Given the description of an element on the screen output the (x, y) to click on. 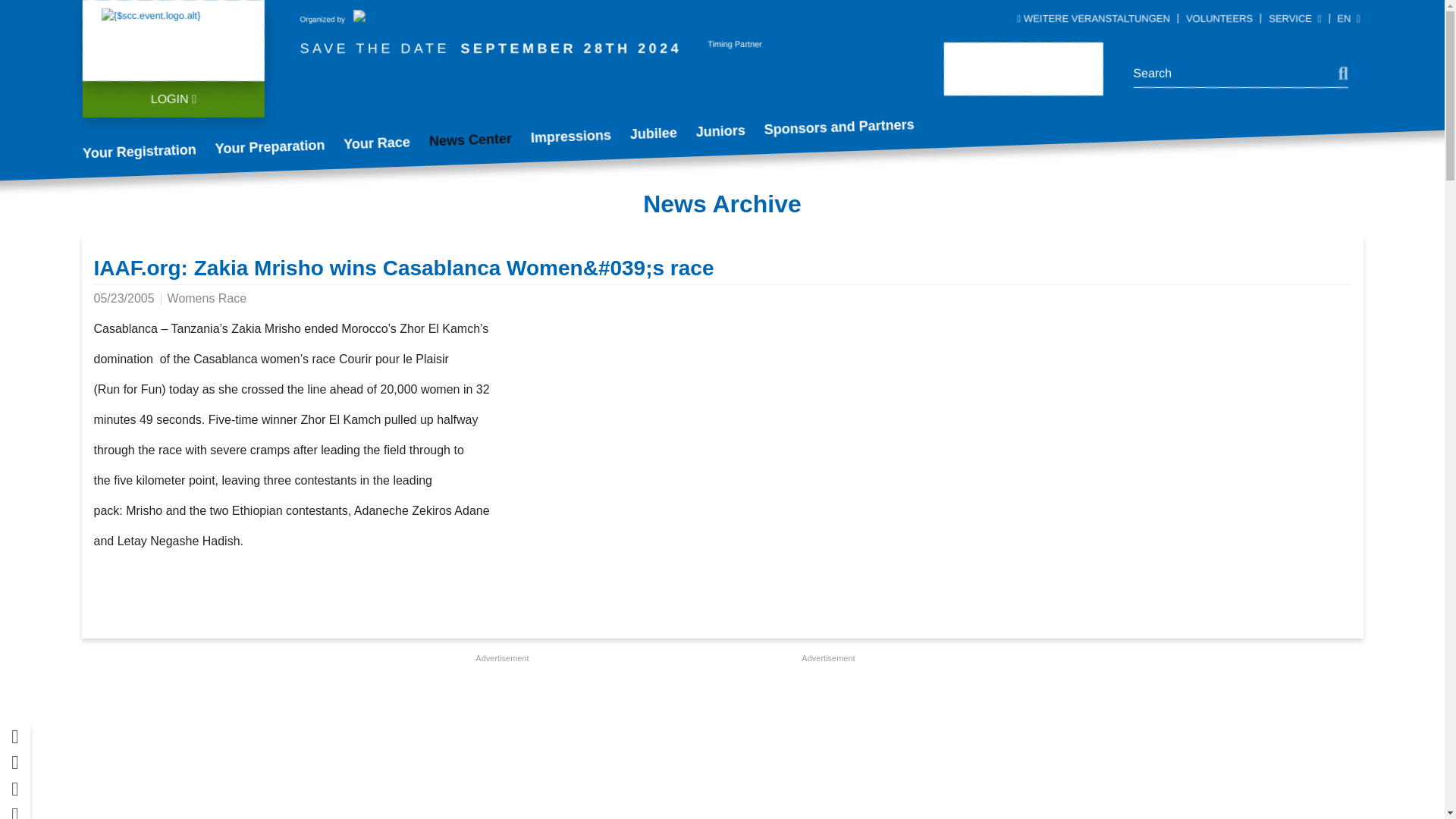
Your Preparation (278, 144)
SERVICE (1294, 18)
EN (1347, 18)
Your Race (385, 141)
WEITERE VERANSTALTUNGEN (1093, 18)
LOGIN (172, 98)
skating.bmw-berlin-marathon.com (150, 14)
VOLUNTEERS (1219, 18)
Your Registration (147, 148)
